Given the description of an element on the screen output the (x, y) to click on. 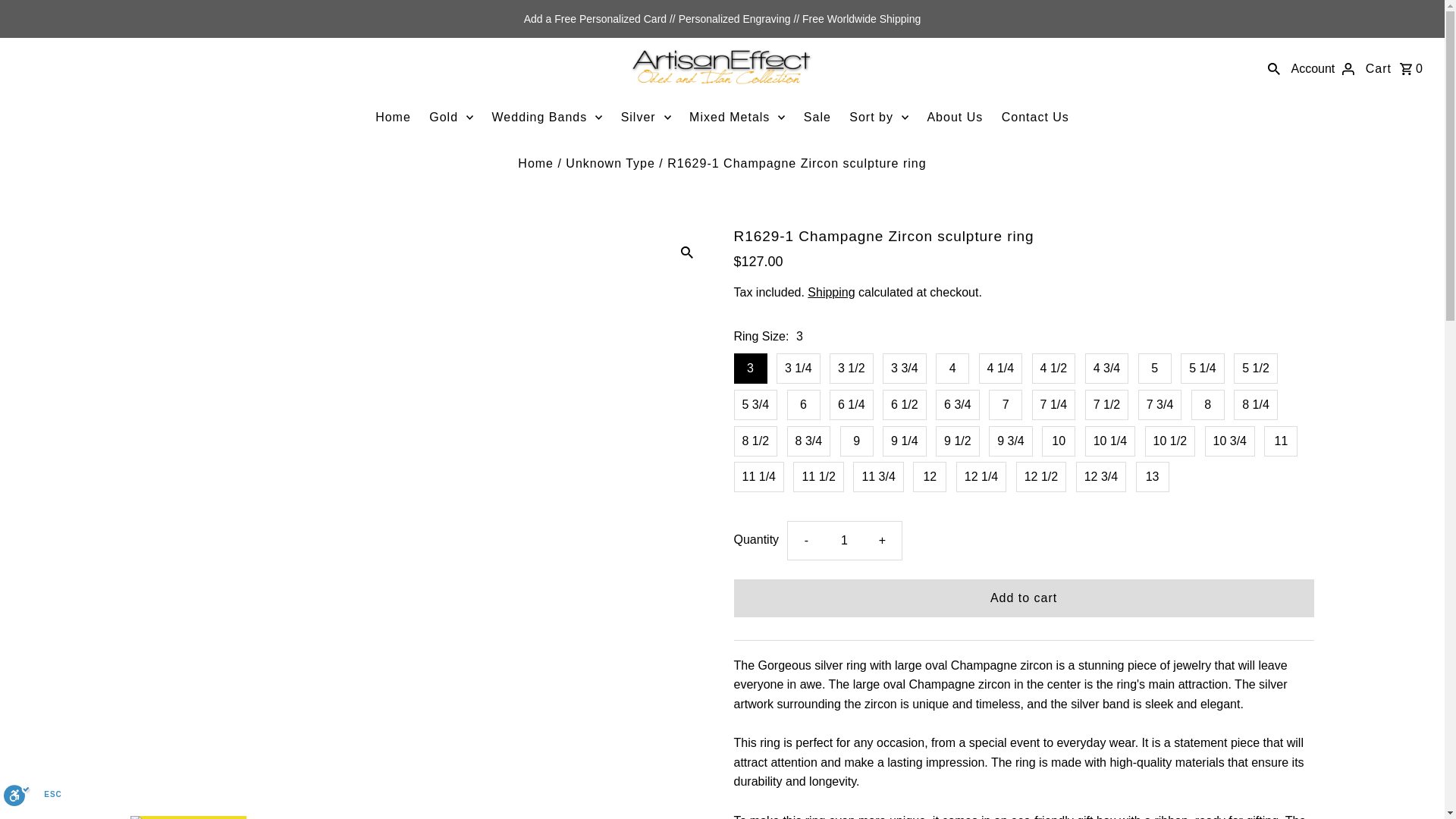
Home (535, 162)
Click to zoom (686, 252)
Wedding Bands (547, 117)
Gold (451, 117)
Add to cart (1023, 598)
Silver (645, 117)
Home (393, 117)
1 (844, 540)
